Given the description of an element on the screen output the (x, y) to click on. 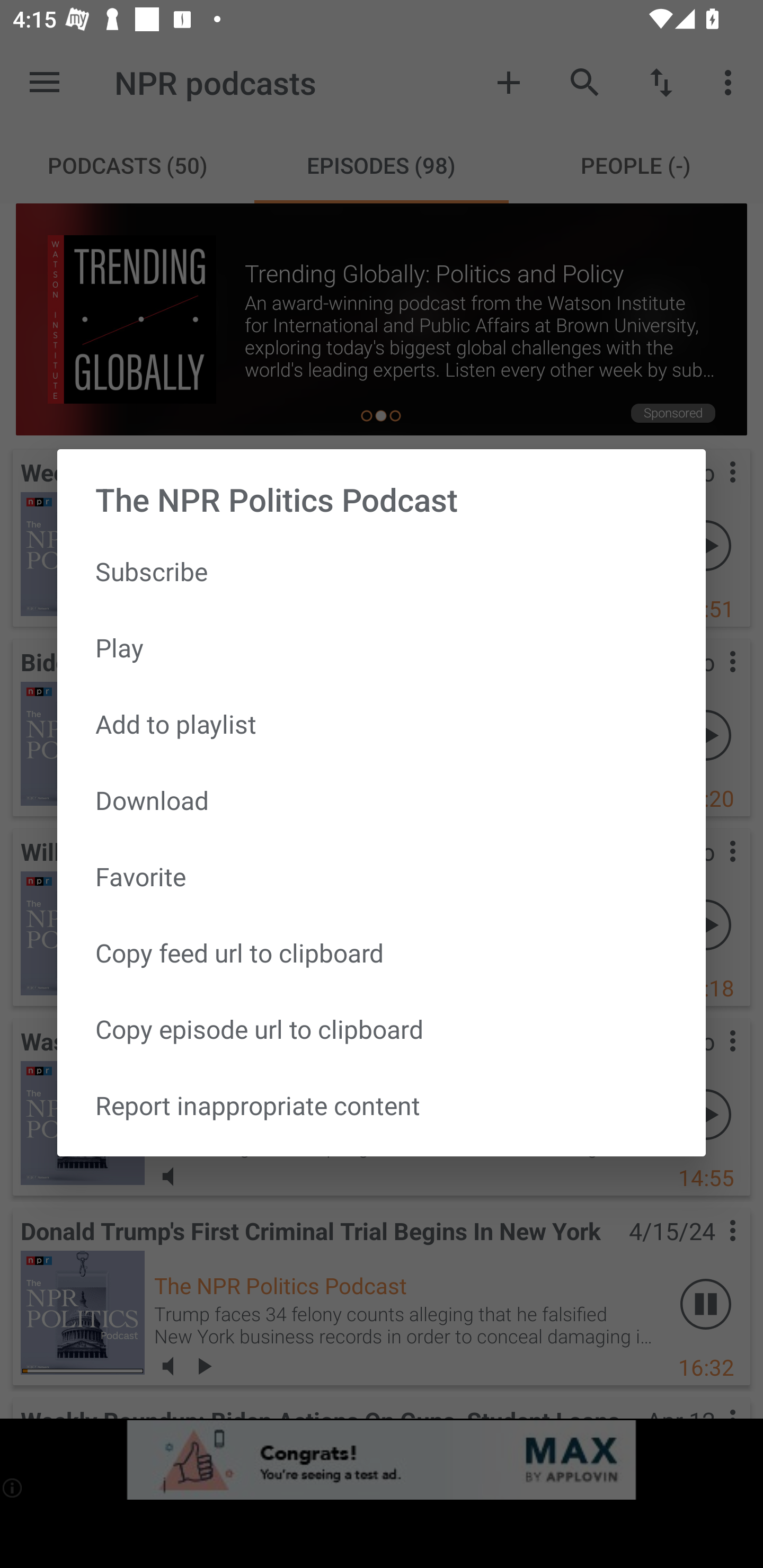
Subscribe (381, 571)
Play (381, 647)
Add to playlist (381, 724)
Download (381, 800)
Favorite (381, 876)
Copy feed url to clipboard (381, 952)
Copy episode url to clipboard (381, 1028)
Report inappropriate content (381, 1105)
